Given the description of an element on the screen output the (x, y) to click on. 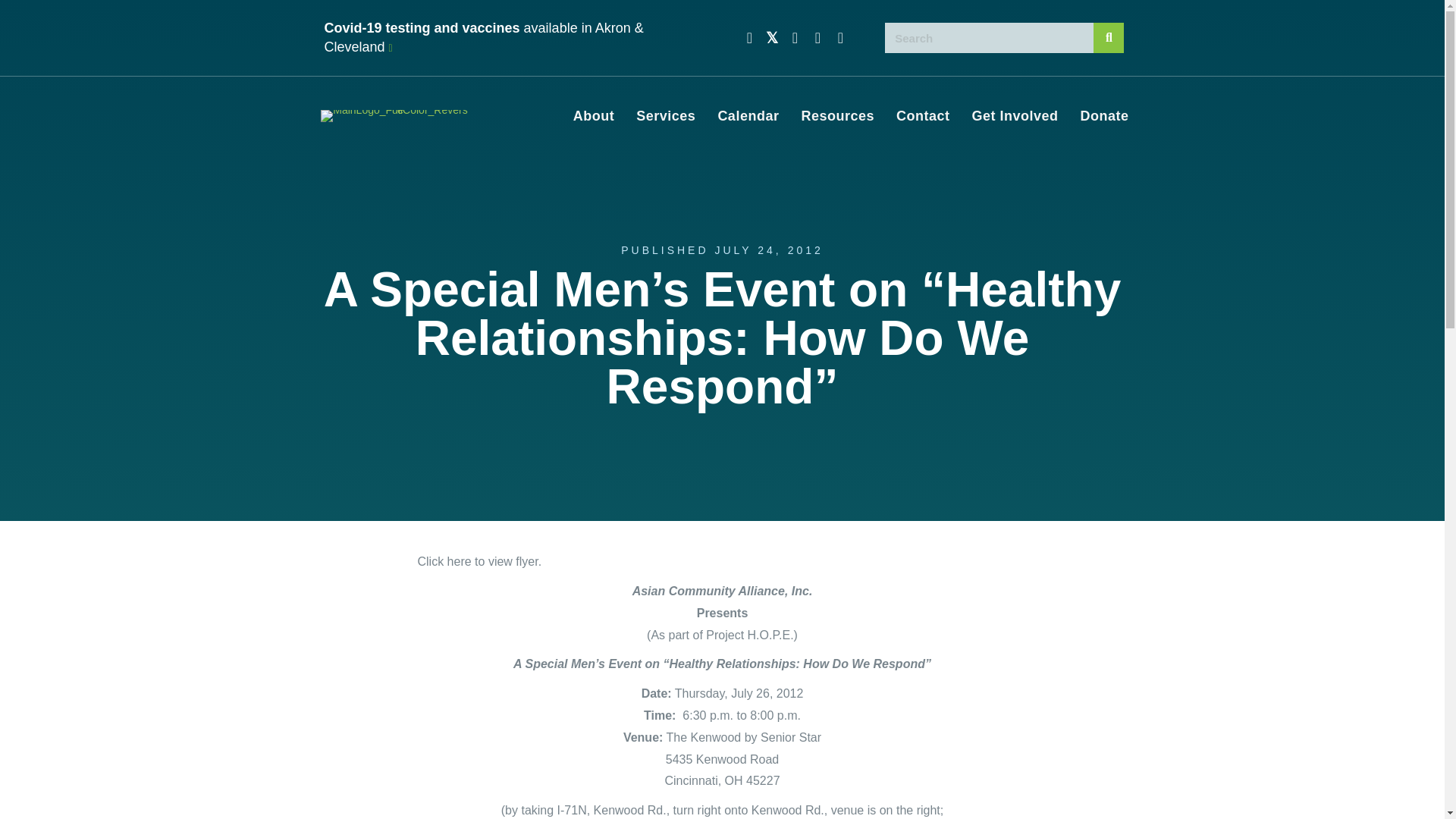
Twitter (771, 37)
here (458, 561)
Contact (922, 115)
Donate (1103, 115)
About (593, 115)
Resources (837, 115)
Calendar (747, 115)
Get Involved (1014, 115)
LinkedIn (840, 37)
Facebook (748, 37)
